Given the description of an element on the screen output the (x, y) to click on. 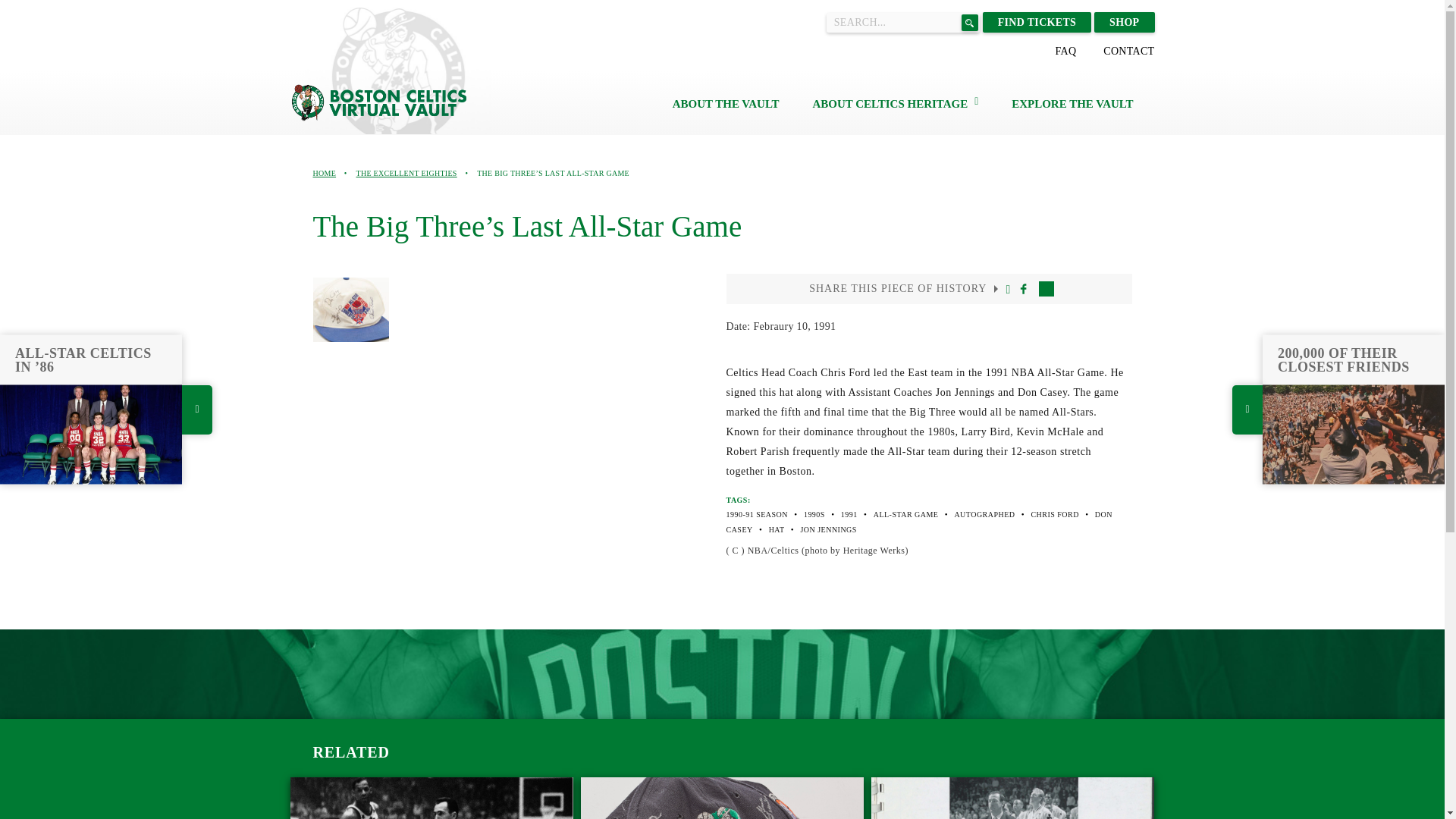
SHOP (1124, 22)
DON CASEY (919, 521)
1991 (849, 514)
FIND TICKETS (1037, 22)
CONTACT (1128, 50)
1990-91 SEASON (756, 514)
FAQ (1064, 50)
ALL-STAR GAME (1012, 798)
EXPLORE THE VAULT (906, 514)
AUTOGRAPHED (1071, 103)
1990S (983, 514)
JON JENNINGS (721, 798)
